Given the description of an element on the screen output the (x, y) to click on. 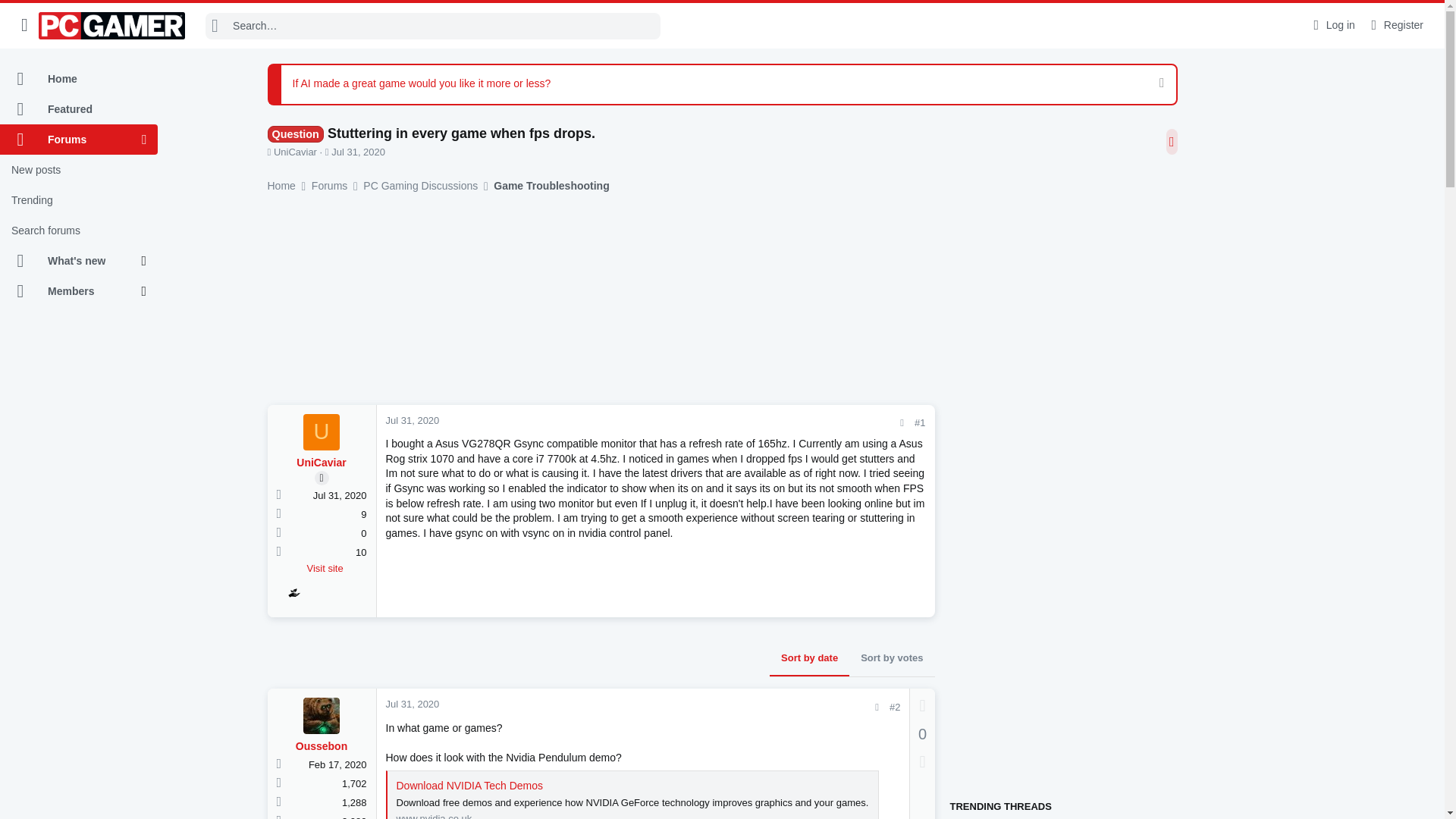
Trending (78, 200)
Home (78, 78)
Original poster (321, 477)
Log in (1332, 24)
Register (1395, 24)
New posts (78, 169)
Jul 31, 2020 at 7:08 PM (358, 152)
Search forums (78, 230)
Forums (70, 139)
What's new (70, 260)
